Given the description of an element on the screen output the (x, y) to click on. 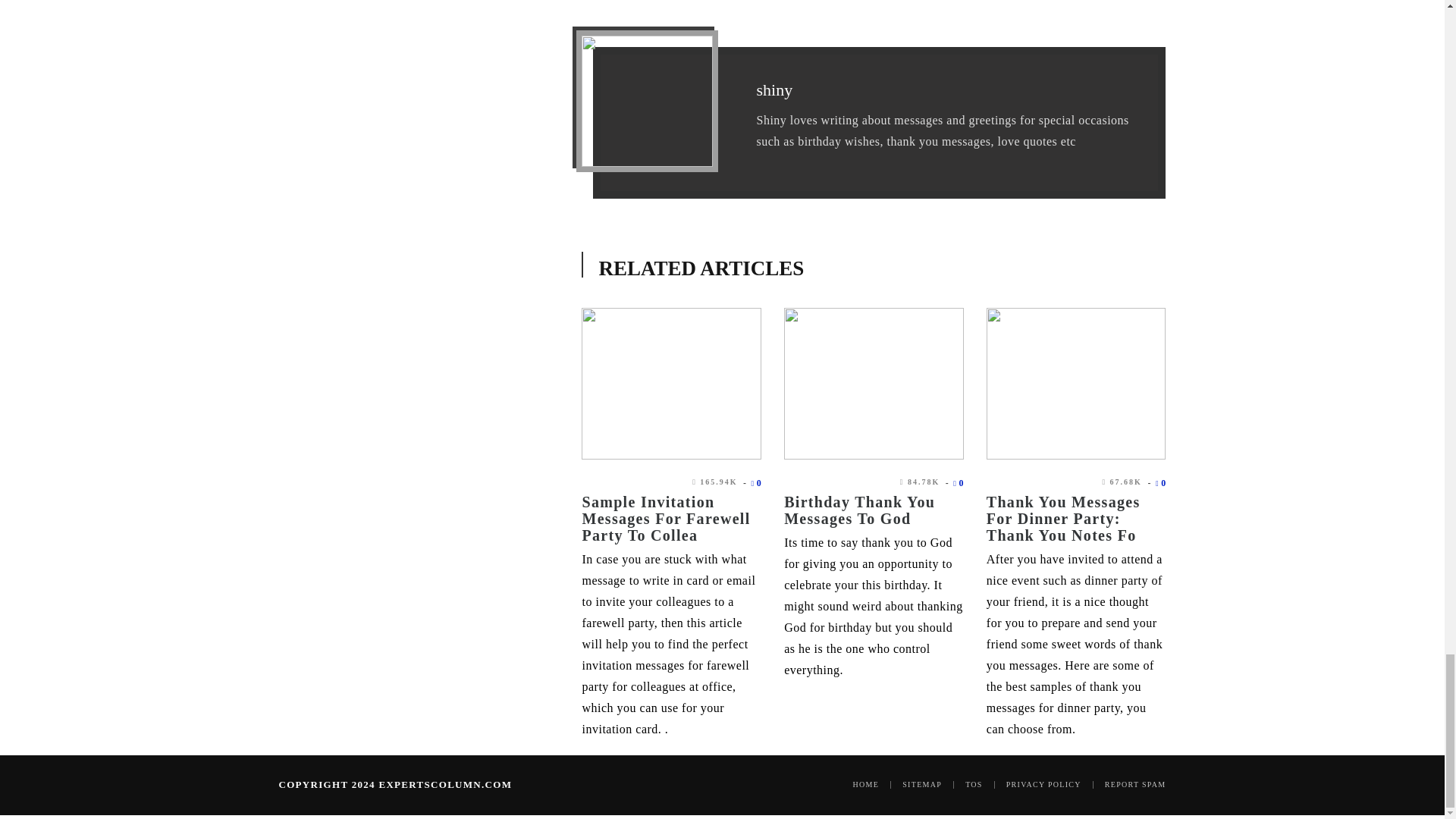
shiny (773, 89)
